Given the description of an element on the screen output the (x, y) to click on. 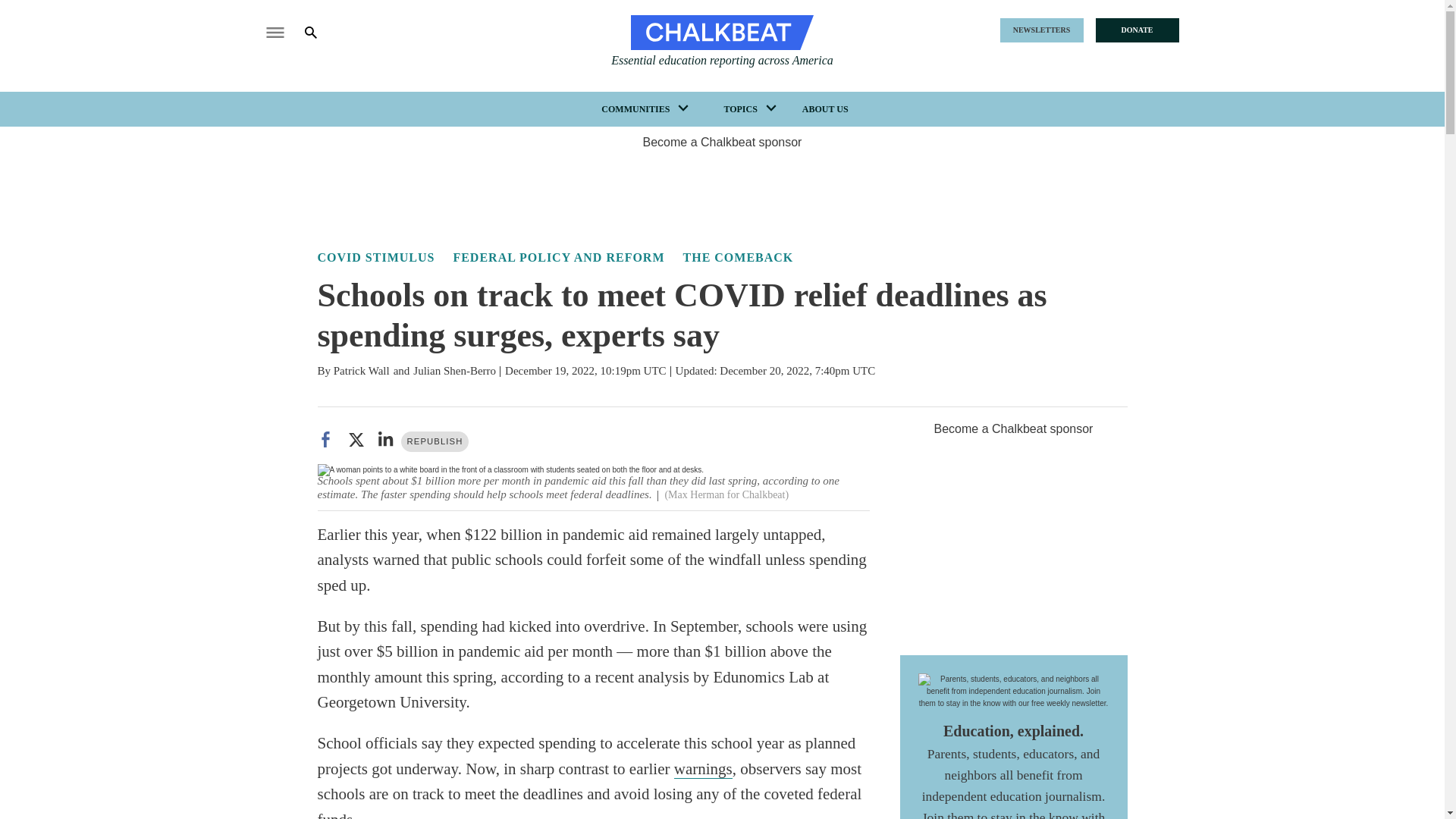
NEWSLETTERS (1040, 30)
SHOW SEARCH (321, 32)
DONATE (1135, 30)
ABOUT US (825, 109)
